Given the description of an element on the screen output the (x, y) to click on. 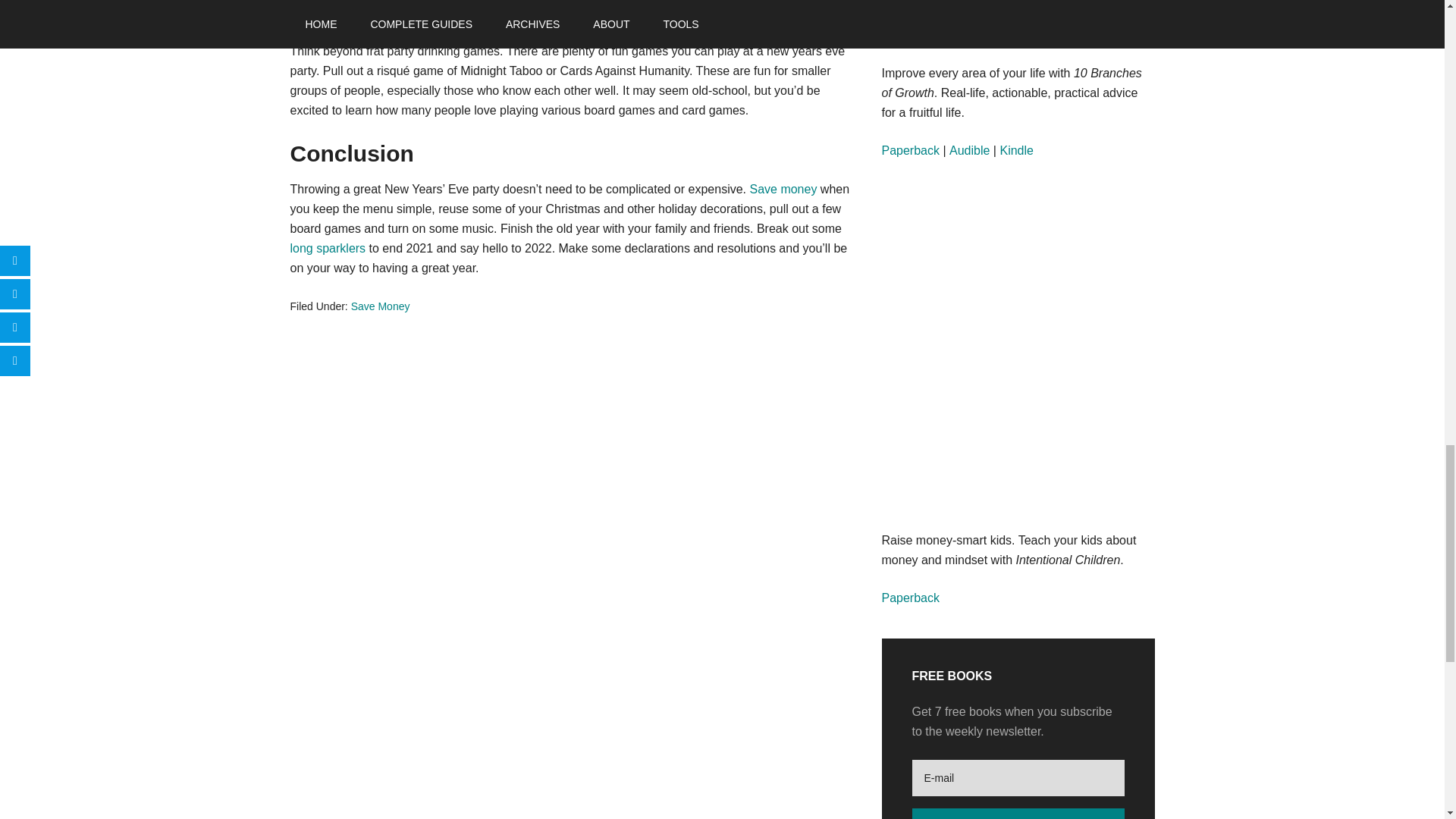
Subscribe (1017, 813)
10 Branches of Growth (975, 13)
